Given the description of an element on the screen output the (x, y) to click on. 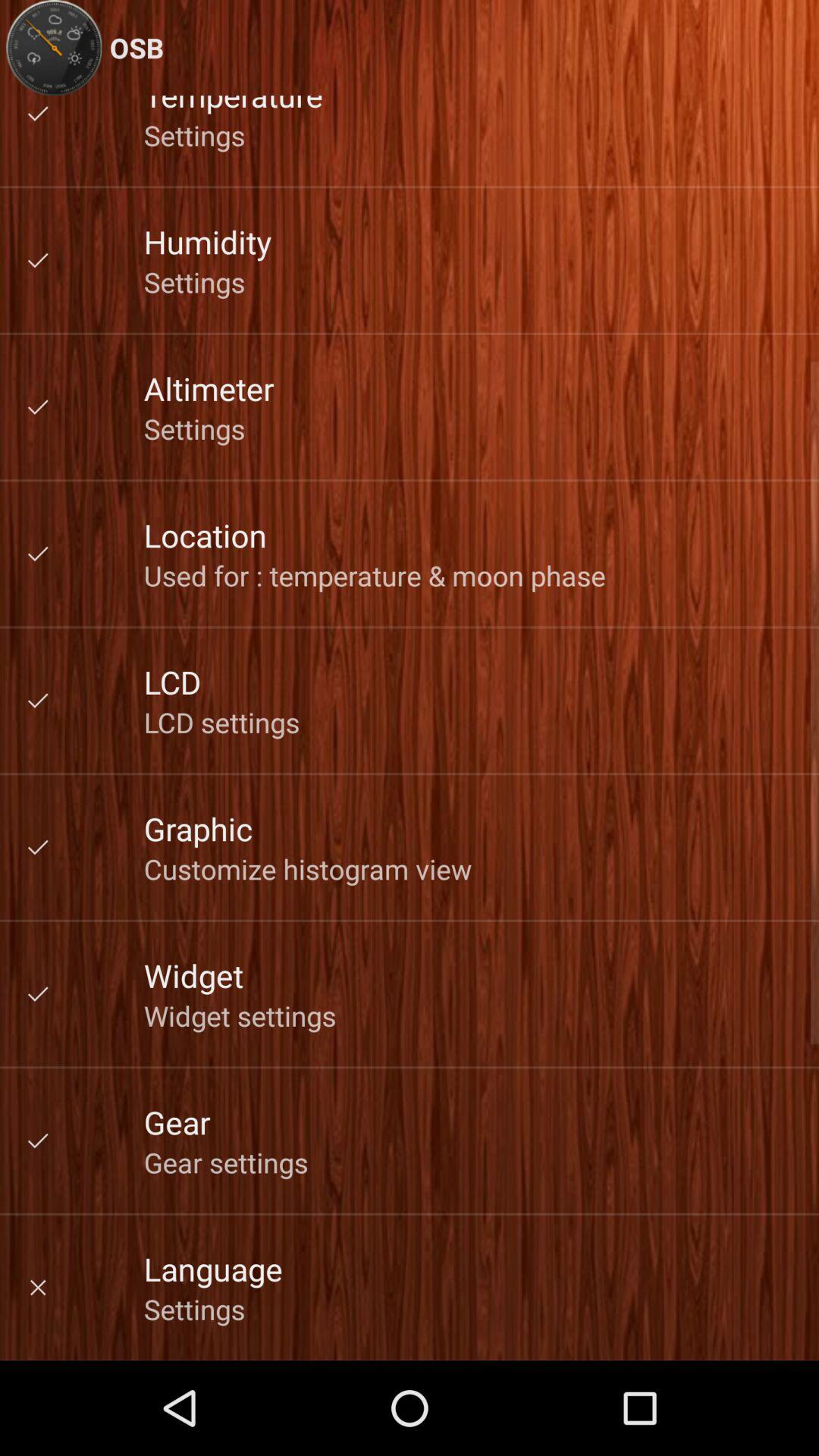
open the app below settings item (204, 534)
